Given the description of an element on the screen output the (x, y) to click on. 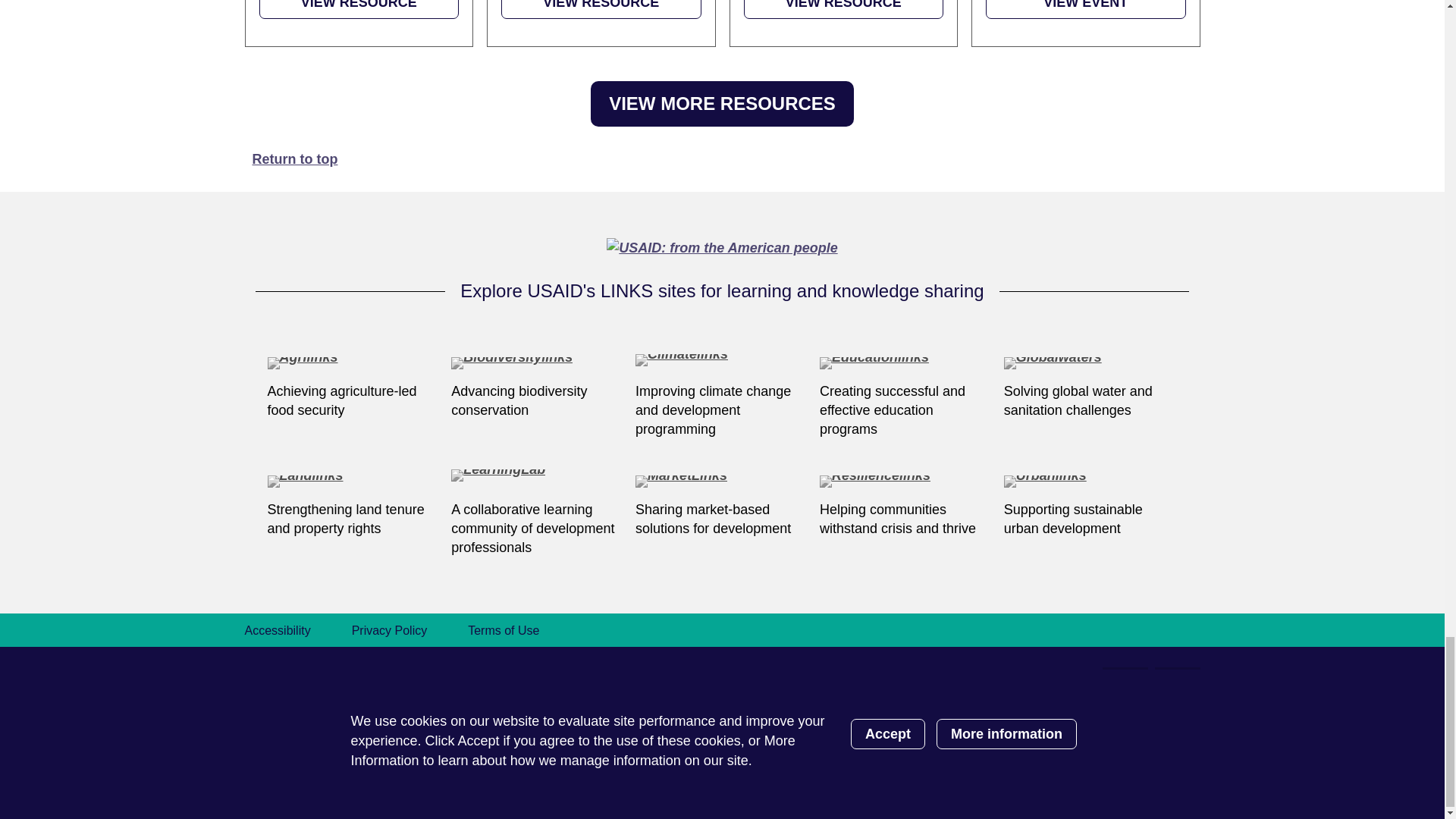
Go to Biodiversitylinks (537, 364)
Go to Globalwaters (1090, 364)
Go to USAID (722, 247)
Go to Landlinks (353, 483)
Go to Urbanlinks (1090, 483)
Go to MarketLinks (721, 483)
Go to Climatelinks (721, 364)
Go to LearningLab (537, 483)
Go to Resiliencelinks (905, 483)
Go to Educationlinks (905, 364)
